Given the description of an element on the screen output the (x, y) to click on. 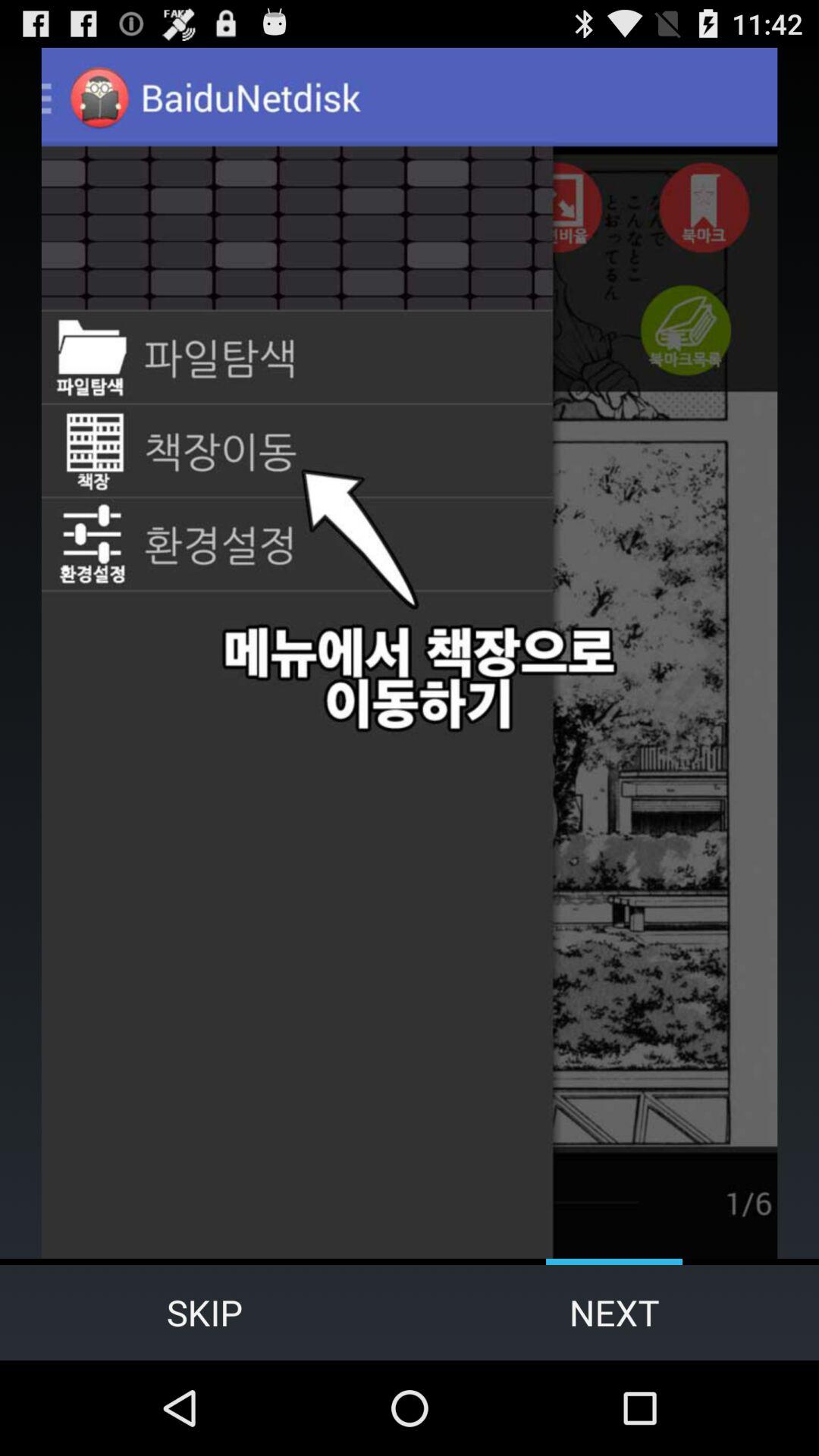
flip until skip (204, 1312)
